Given the description of an element on the screen output the (x, y) to click on. 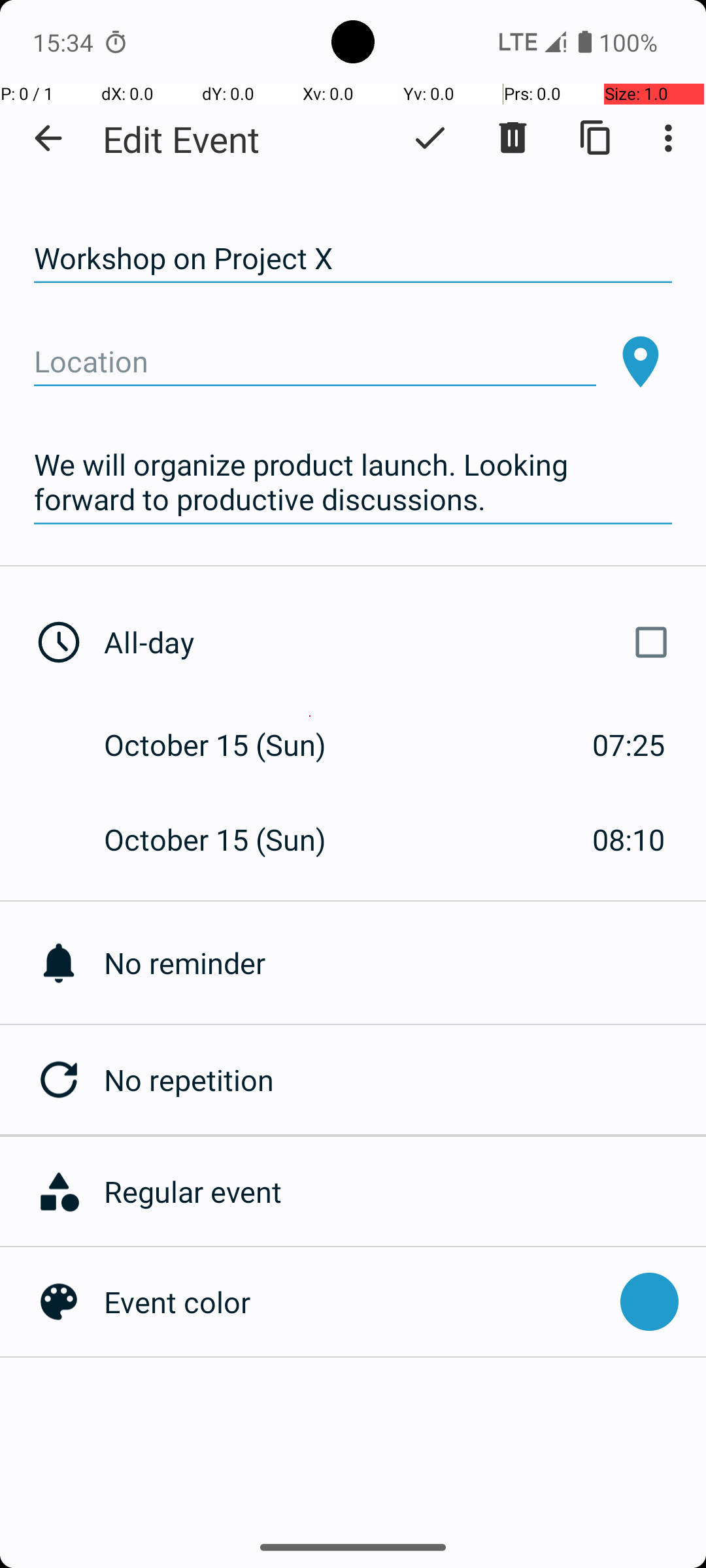
We will organize product launch. Looking forward to productive discussions. Element type: android.widget.EditText (352, 482)
07:25 Element type: android.widget.TextView (628, 744)
08:10 Element type: android.widget.TextView (628, 838)
